Given the description of an element on the screen output the (x, y) to click on. 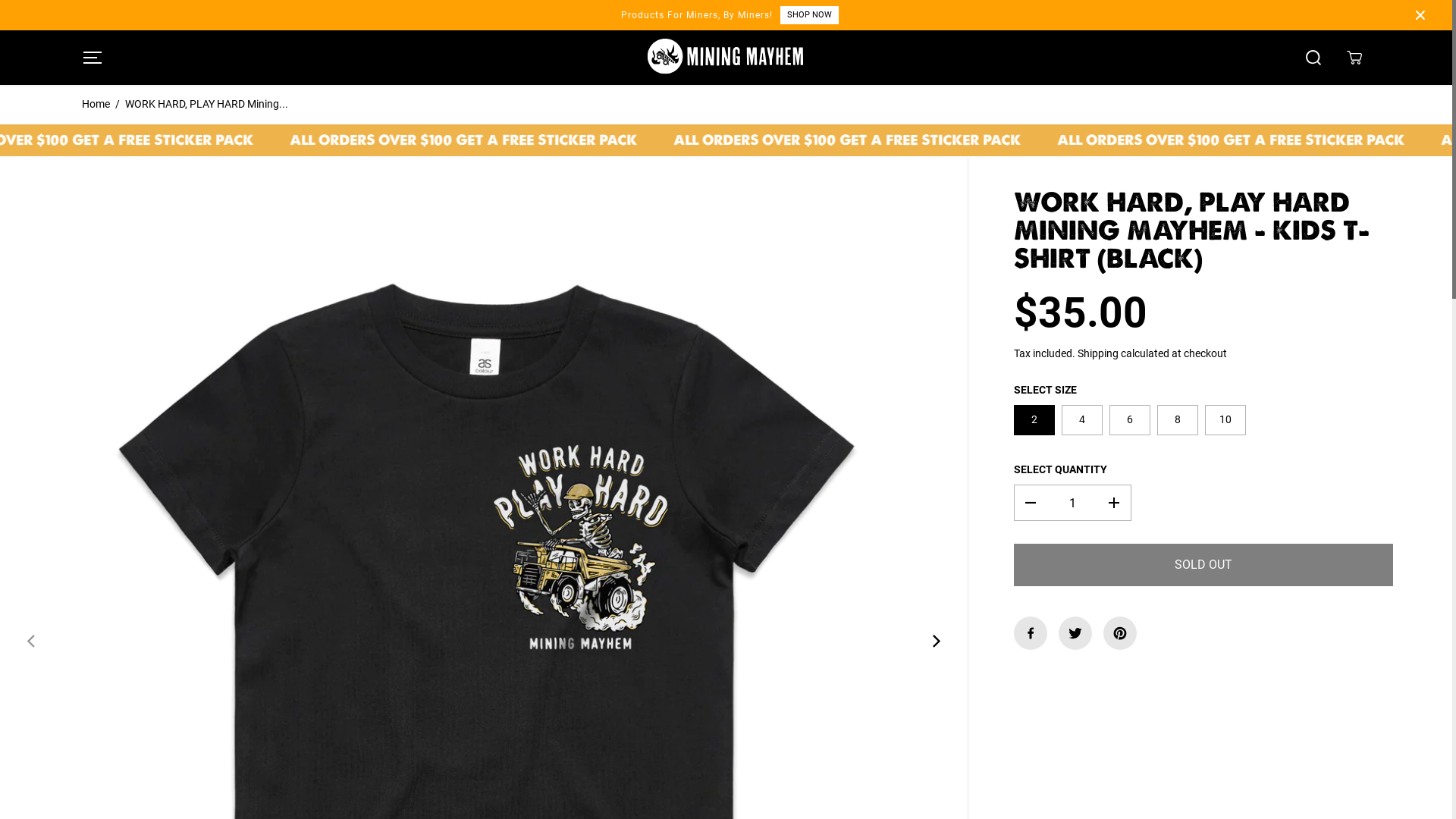
SHOP NOW Element type: text (809, 15)
10 Element type: hover (1224, 419)
Facebook Element type: hover (1030, 632)
2 Element type: hover (1033, 419)
Shipping Element type: text (1097, 353)
Cart Element type: hover (1354, 57)
4 Element type: hover (1081, 419)
8 Element type: hover (1177, 419)
SOLD OUT Element type: text (1203, 564)
Search Element type: hover (1313, 57)
Twitter Element type: hover (1075, 632)
Home Element type: text (95, 103)
Pinterest Element type: hover (1119, 632)
6 Element type: hover (1129, 419)
